Given the description of an element on the screen output the (x, y) to click on. 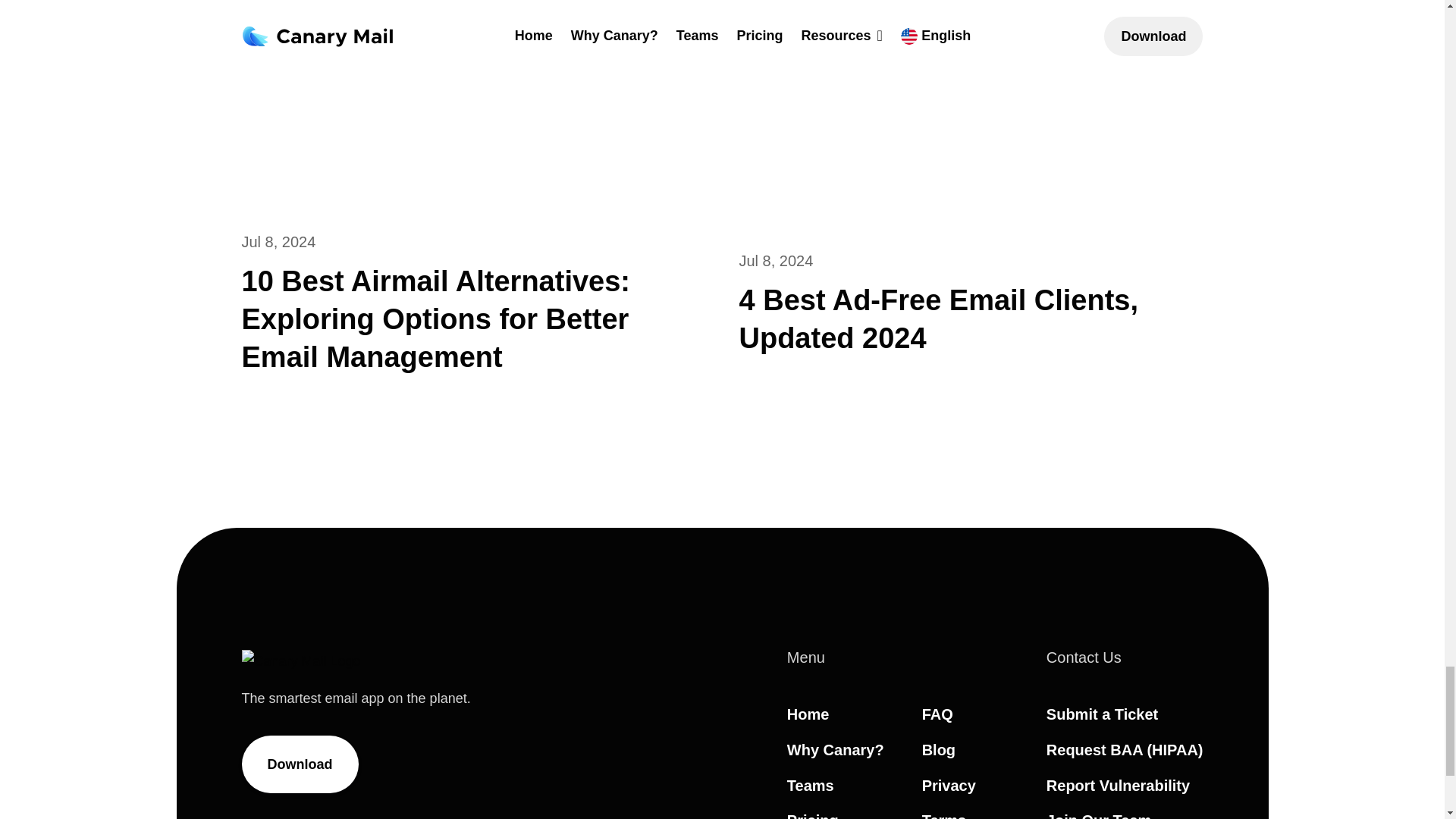
Submit a Ticket (1101, 713)
Terms (943, 815)
Pricing (812, 815)
Privacy (948, 785)
Home (808, 713)
Blog (938, 750)
Teams (810, 785)
Report Vulnerability (1117, 785)
Why Canary? (835, 750)
Join Our Team (1098, 815)
Download (299, 764)
FAQ (937, 713)
